Given the description of an element on the screen output the (x, y) to click on. 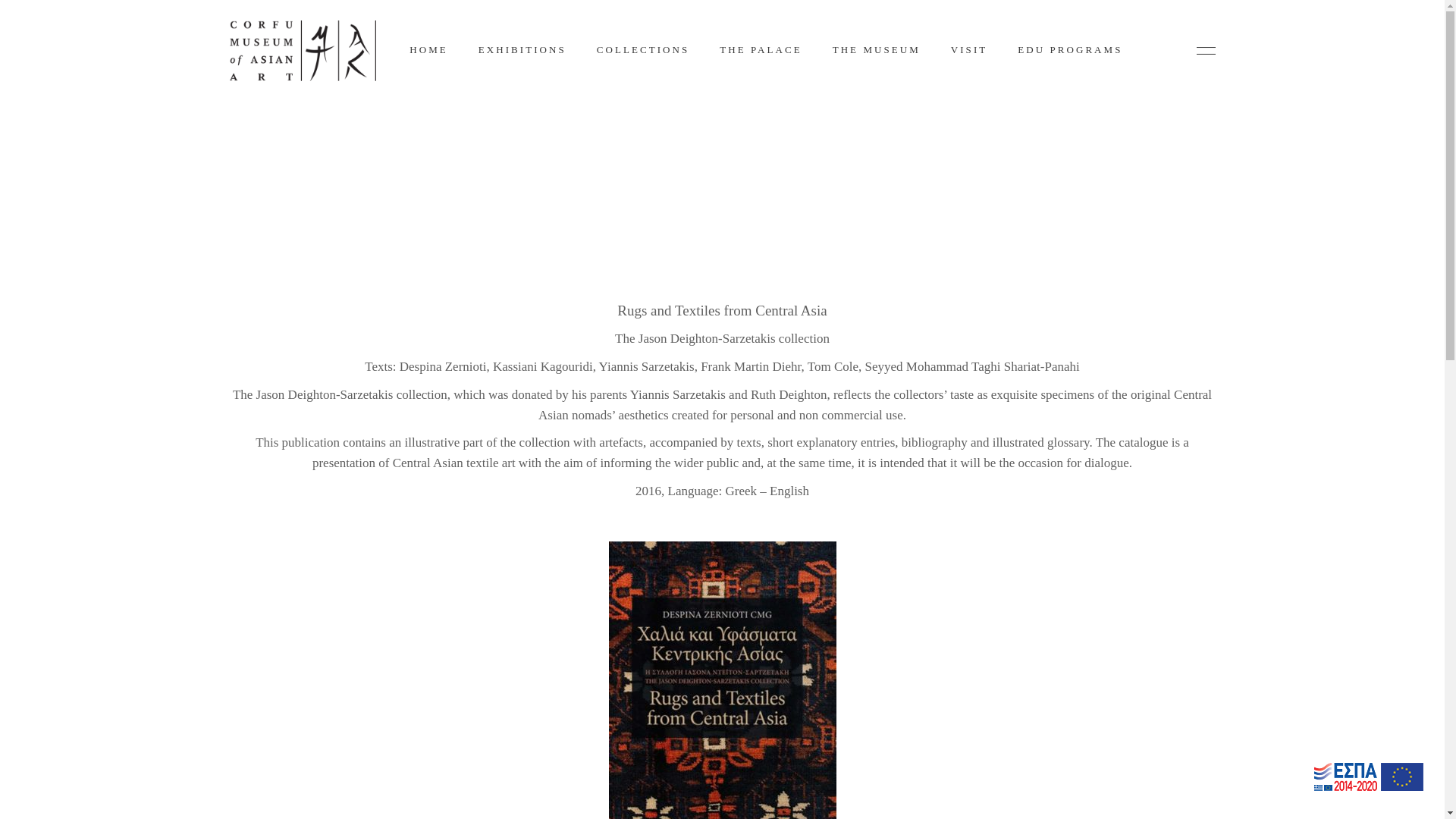
COLLECTIONS (642, 49)
HOME (428, 49)
EDU PROGRAMS (1070, 49)
EXHIBITIONS (521, 49)
THE PALACE (760, 49)
VISIT (969, 49)
THE MUSEUM (876, 49)
